Given the description of an element on the screen output the (x, y) to click on. 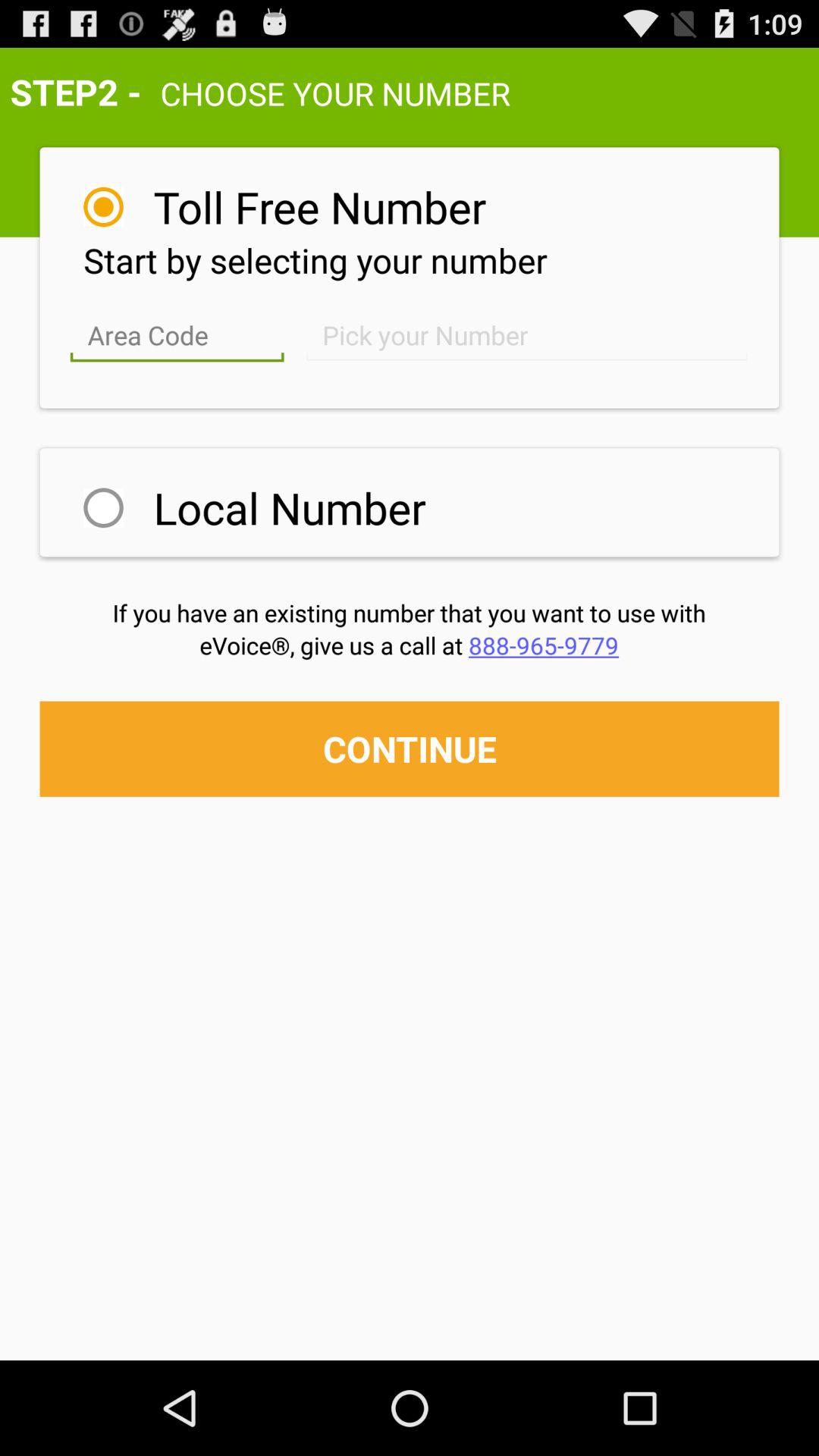
choose item above if you have icon (289, 507)
